Given the description of an element on the screen output the (x, y) to click on. 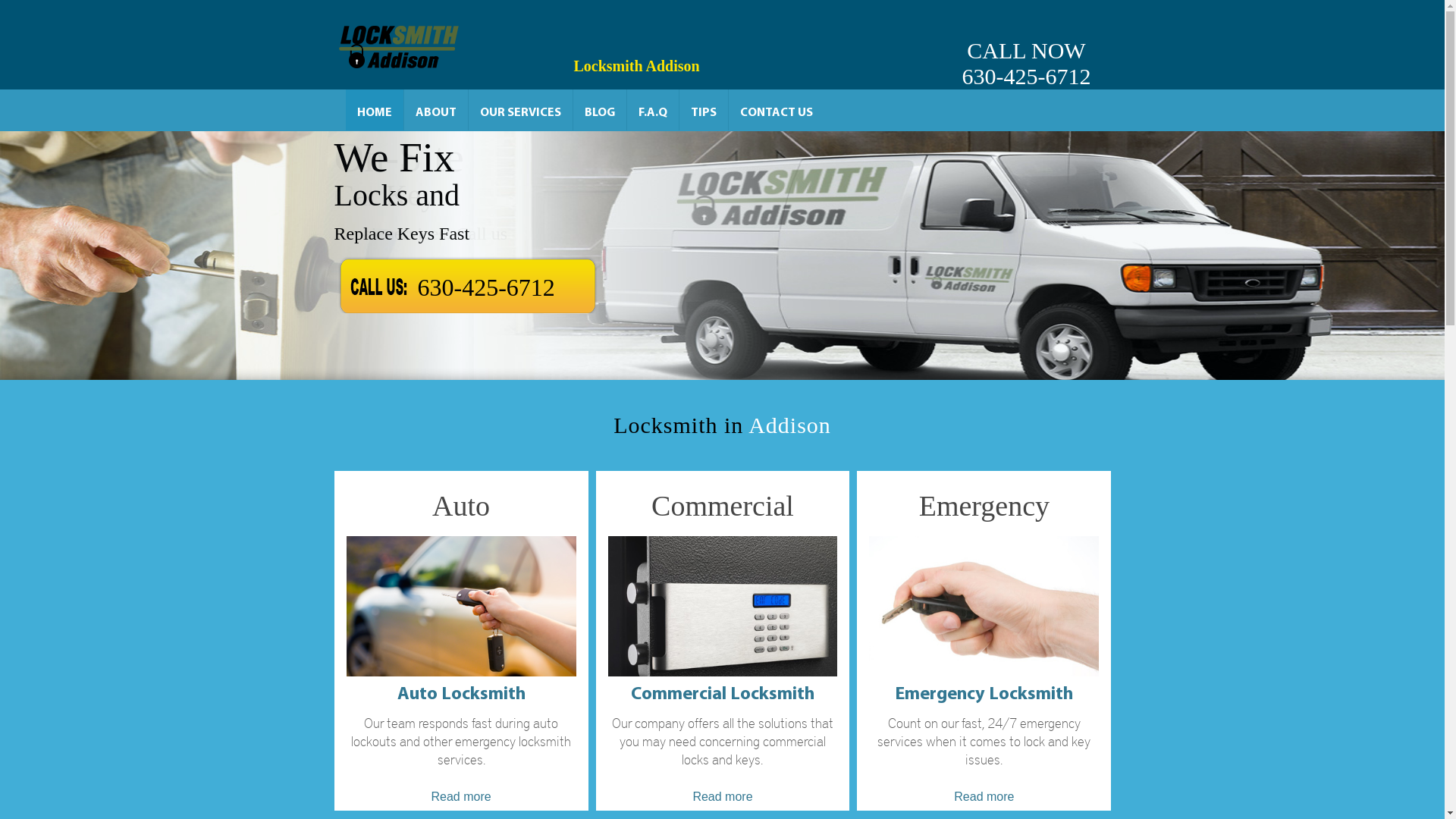
630-425-6712 Element type: text (485, 282)
OUR SERVICES Element type: text (520, 109)
F.A.Q Element type: text (651, 109)
TIPS Element type: text (703, 109)
BLOG Element type: text (599, 109)
CONTACT US Element type: text (775, 109)
HOME Element type: text (374, 109)
CALL NOW
630-425-6712 Element type: text (1025, 44)
ABOUT Element type: text (435, 109)
